Given the description of an element on the screen output the (x, y) to click on. 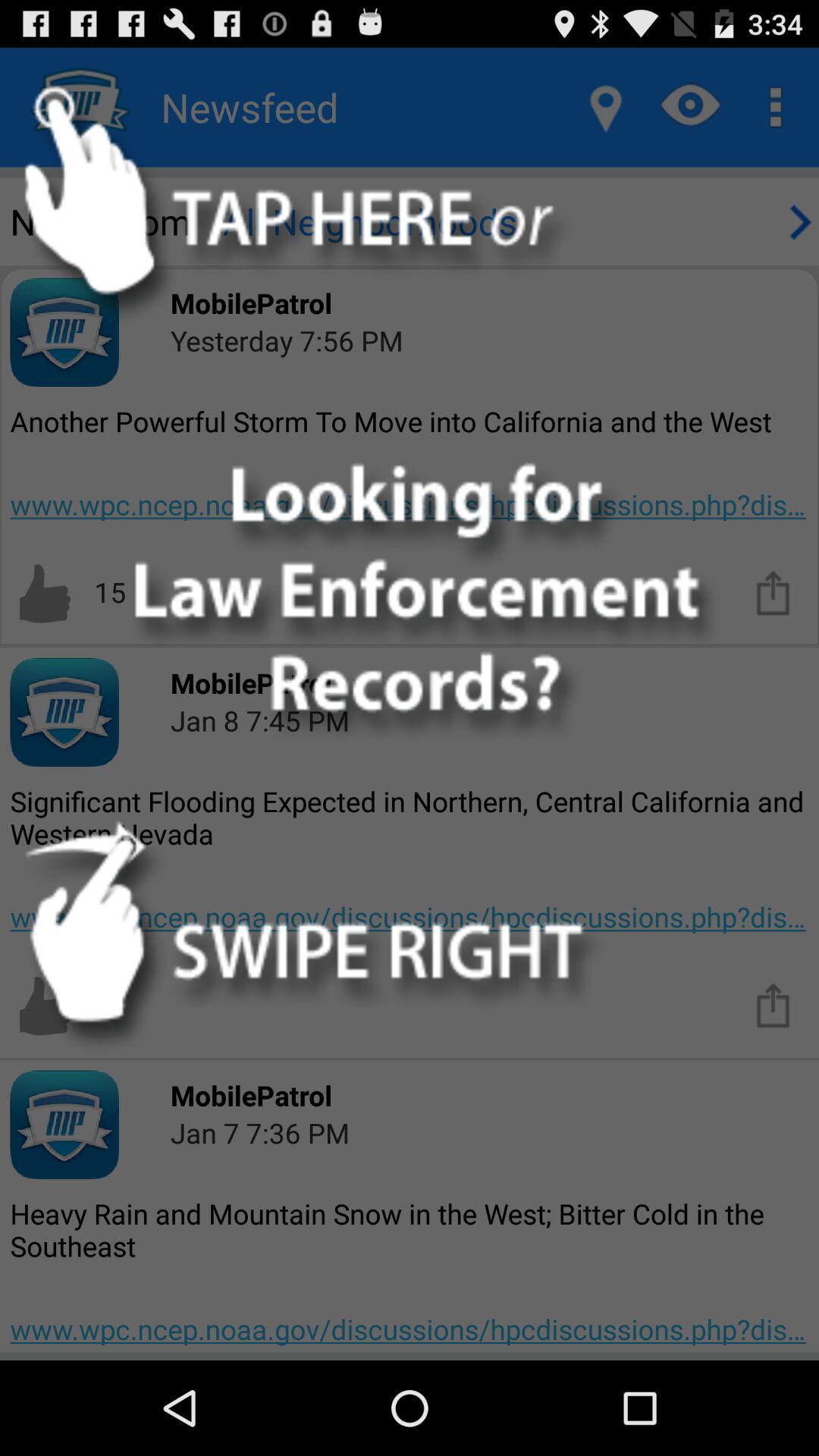
go to next (797, 221)
